Given the description of an element on the screen output the (x, y) to click on. 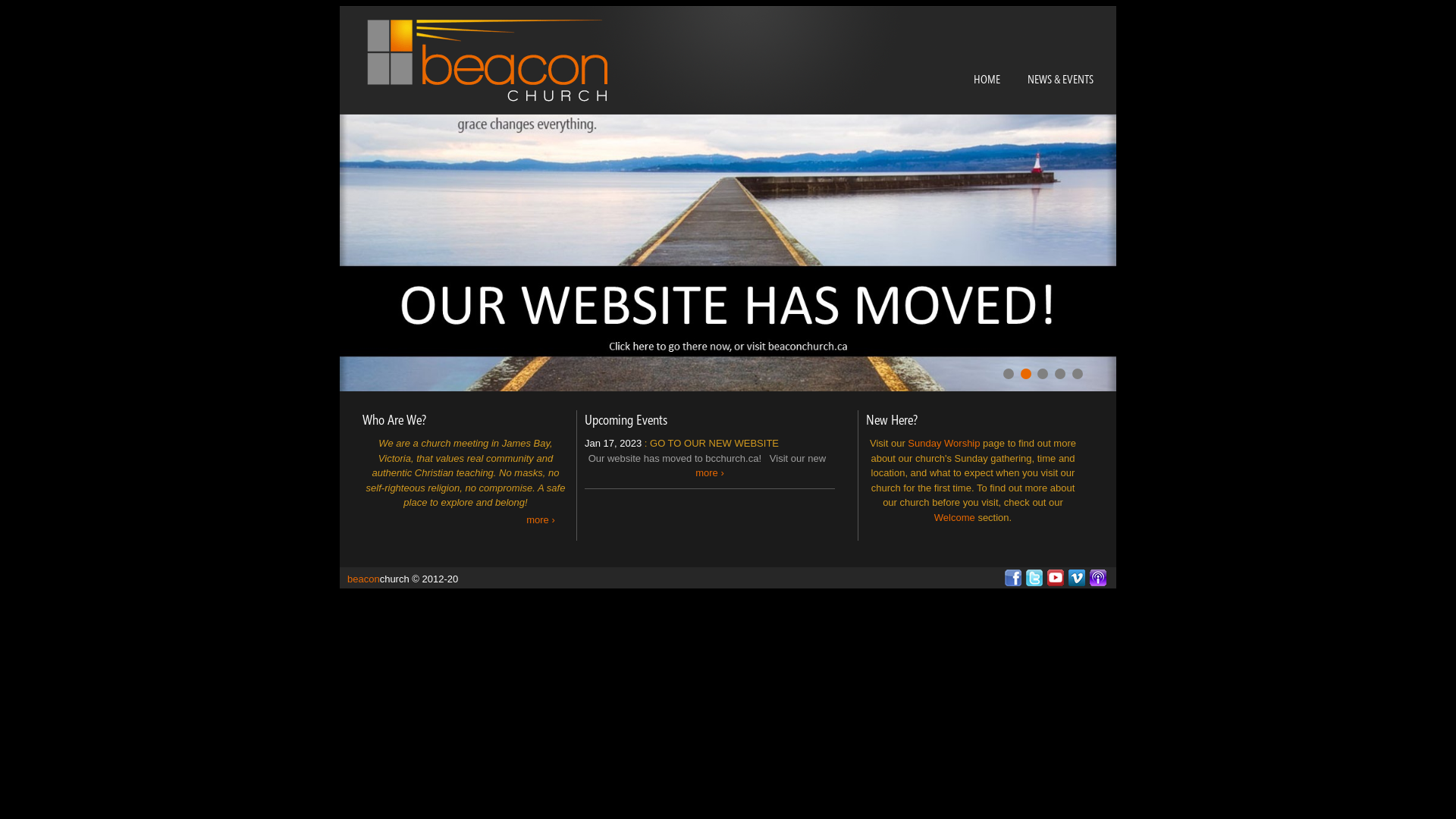
HOME Element type: text (986, 78)
NEWS & EVENTS Element type: text (1060, 78)
Sunday Worship Element type: text (943, 442)
Welcome Element type: text (954, 516)
